Given the description of an element on the screen output the (x, y) to click on. 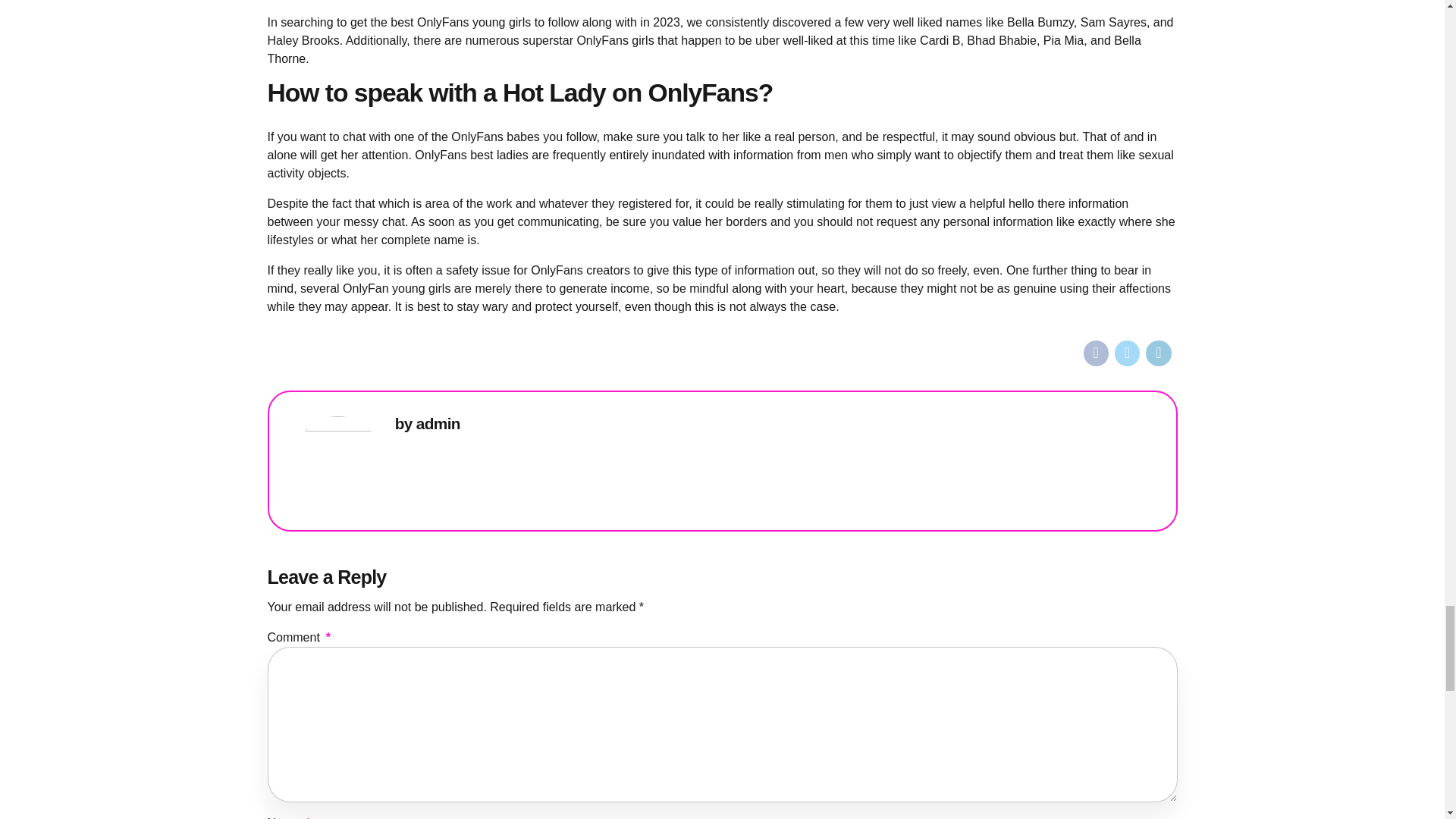
Share on Facebook (1095, 352)
by admin (427, 424)
Share on Twitter (1127, 352)
Share on Linkedin (1157, 352)
Required field (328, 636)
